Given the description of an element on the screen output the (x, y) to click on. 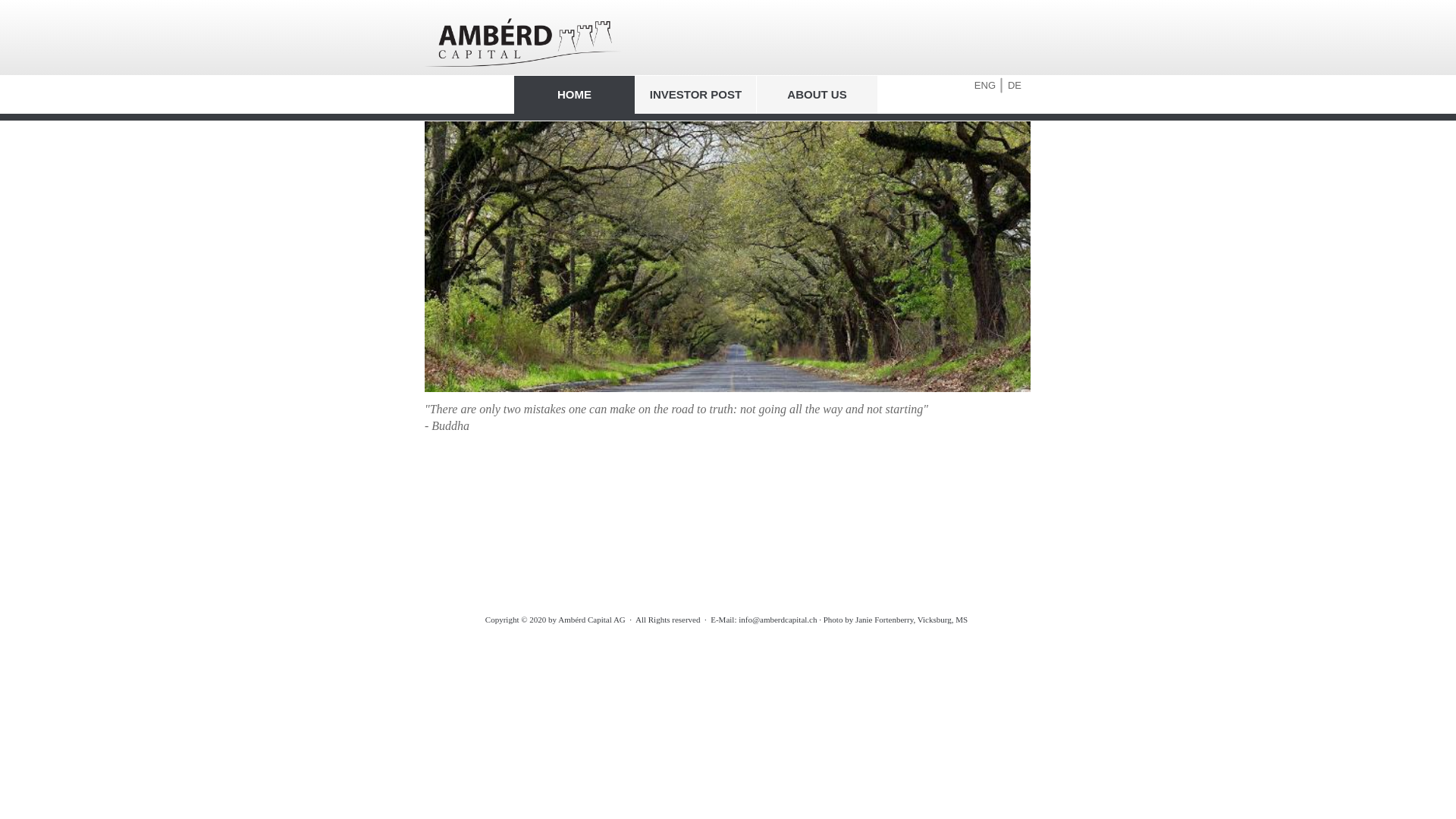
ENG Element type: text (984, 85)
INVESTOR POST Element type: text (695, 94)
ABOUT US Element type: text (816, 94)
DE Element type: text (1014, 85)
HOME Element type: text (574, 94)
